Given the description of an element on the screen output the (x, y) to click on. 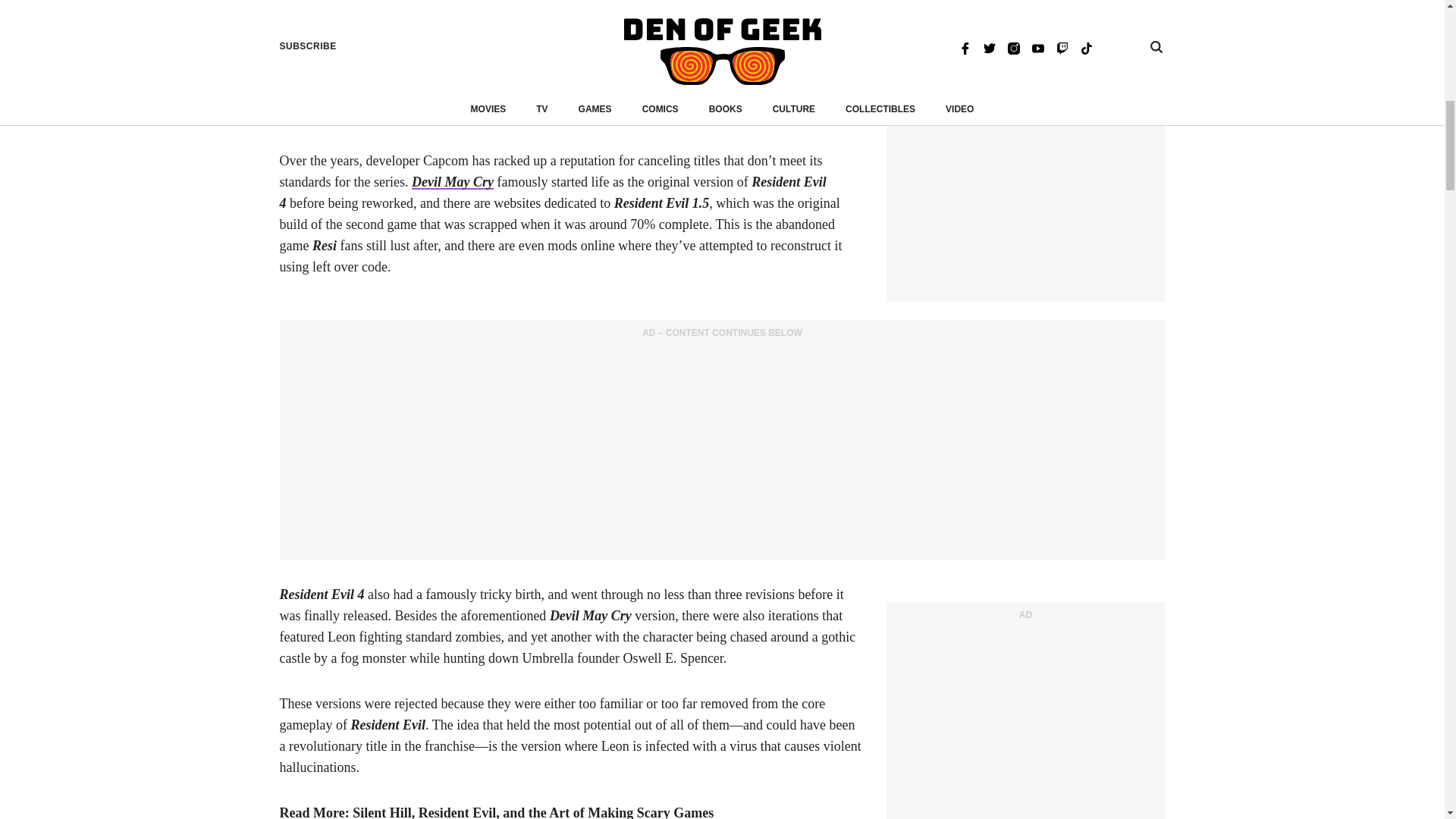
Devil May Cry (452, 181)
Devil May Cry on Den of Geek (452, 181)
